Given the description of an element on the screen output the (x, y) to click on. 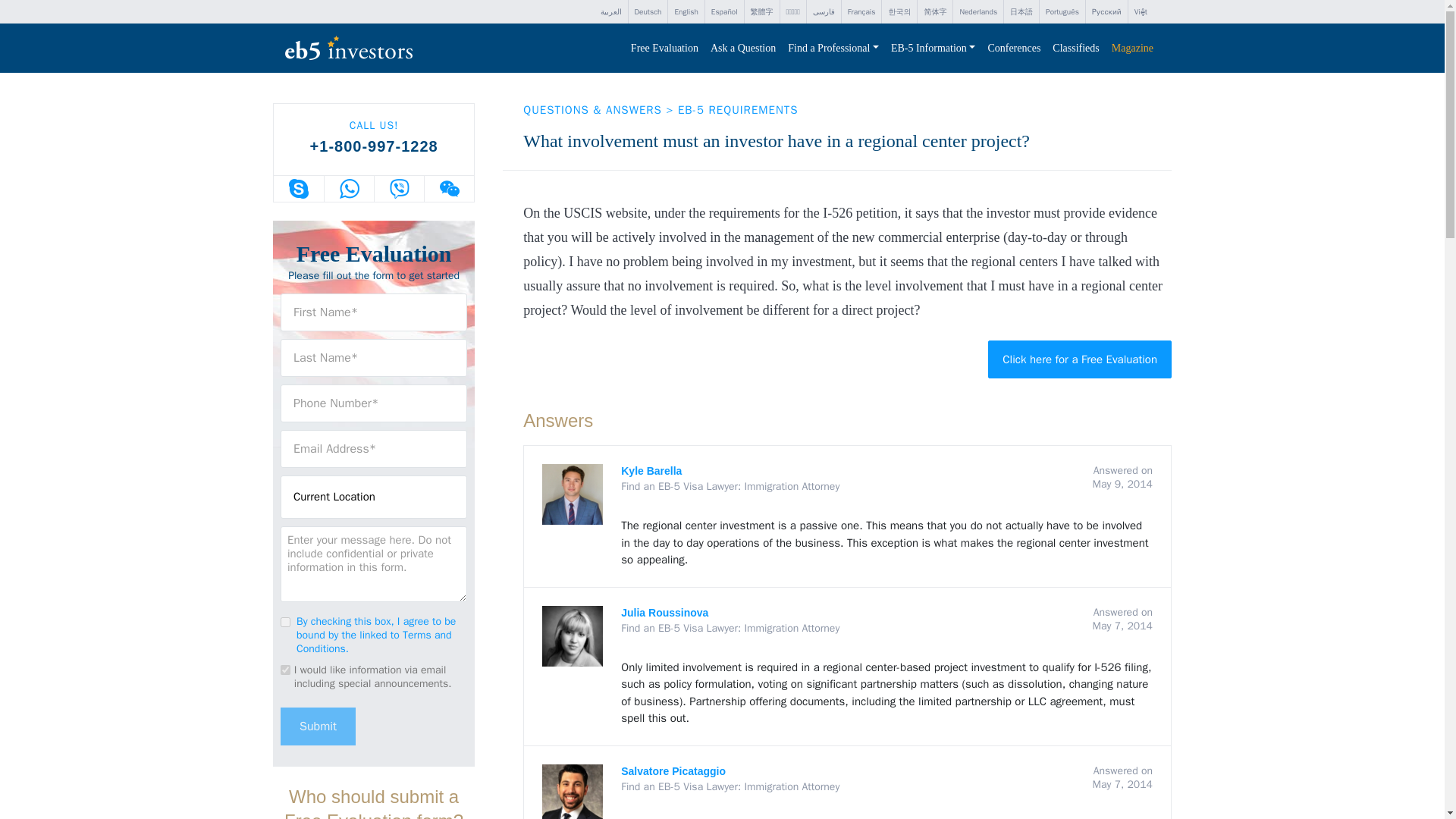
Find a Professional (833, 48)
Free Evaluation (664, 48)
1 (285, 622)
Submit (318, 725)
Free Evaluation (664, 48)
EB-5 Information (933, 48)
English (685, 11)
Nederlands (978, 11)
Deutsch (646, 11)
Ask a Question (742, 48)
